Given the description of an element on the screen output the (x, y) to click on. 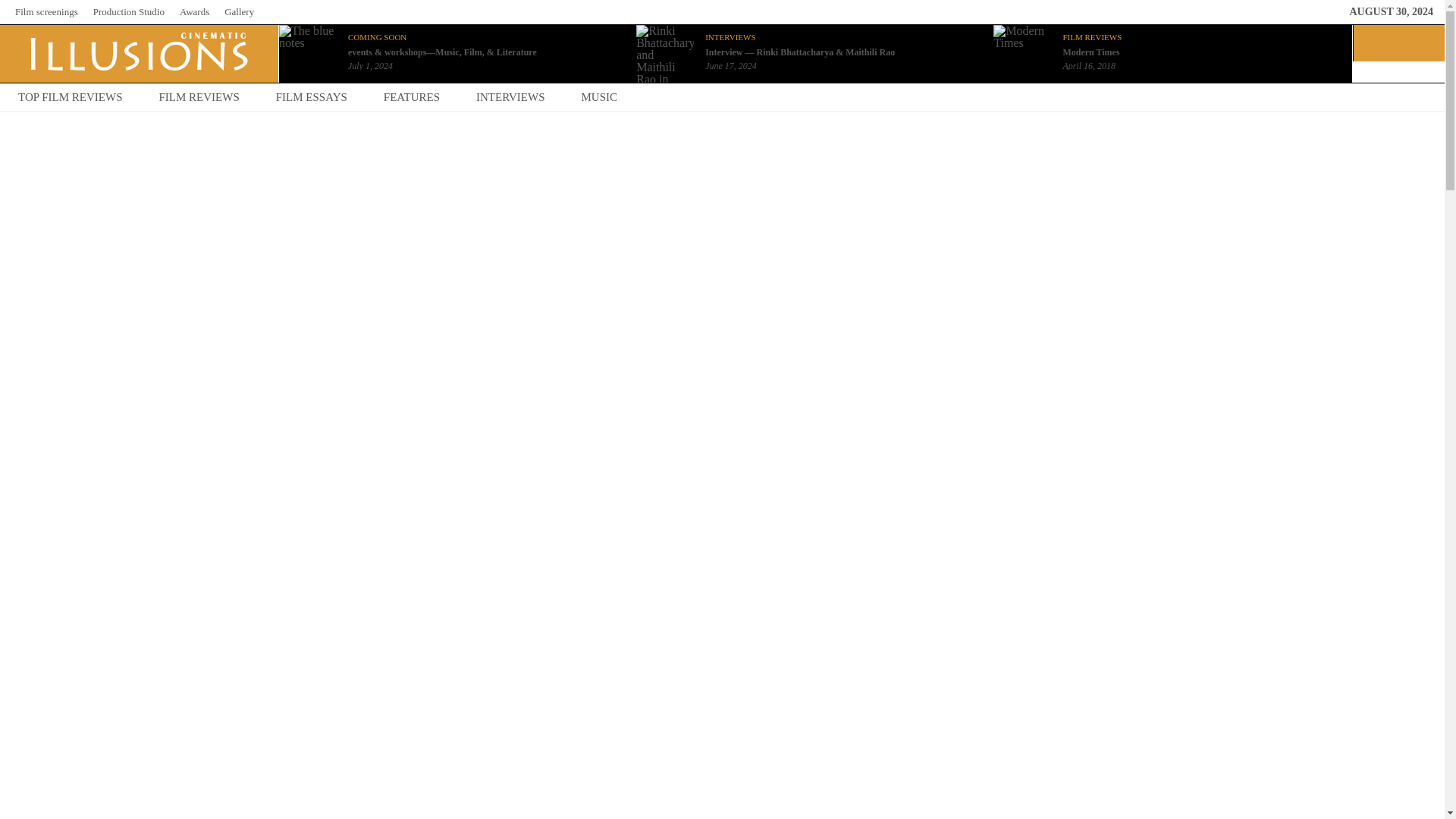
Top Film Reviews (70, 97)
Modern Times (1090, 51)
COMING SOON (376, 36)
TOP FILM REVIEWS (70, 97)
Awards (194, 11)
Production Studio (128, 11)
INTERVIEWS (729, 36)
Gallery (238, 11)
Film screenings (46, 11)
Modern Times (1021, 30)
